Given the description of an element on the screen output the (x, y) to click on. 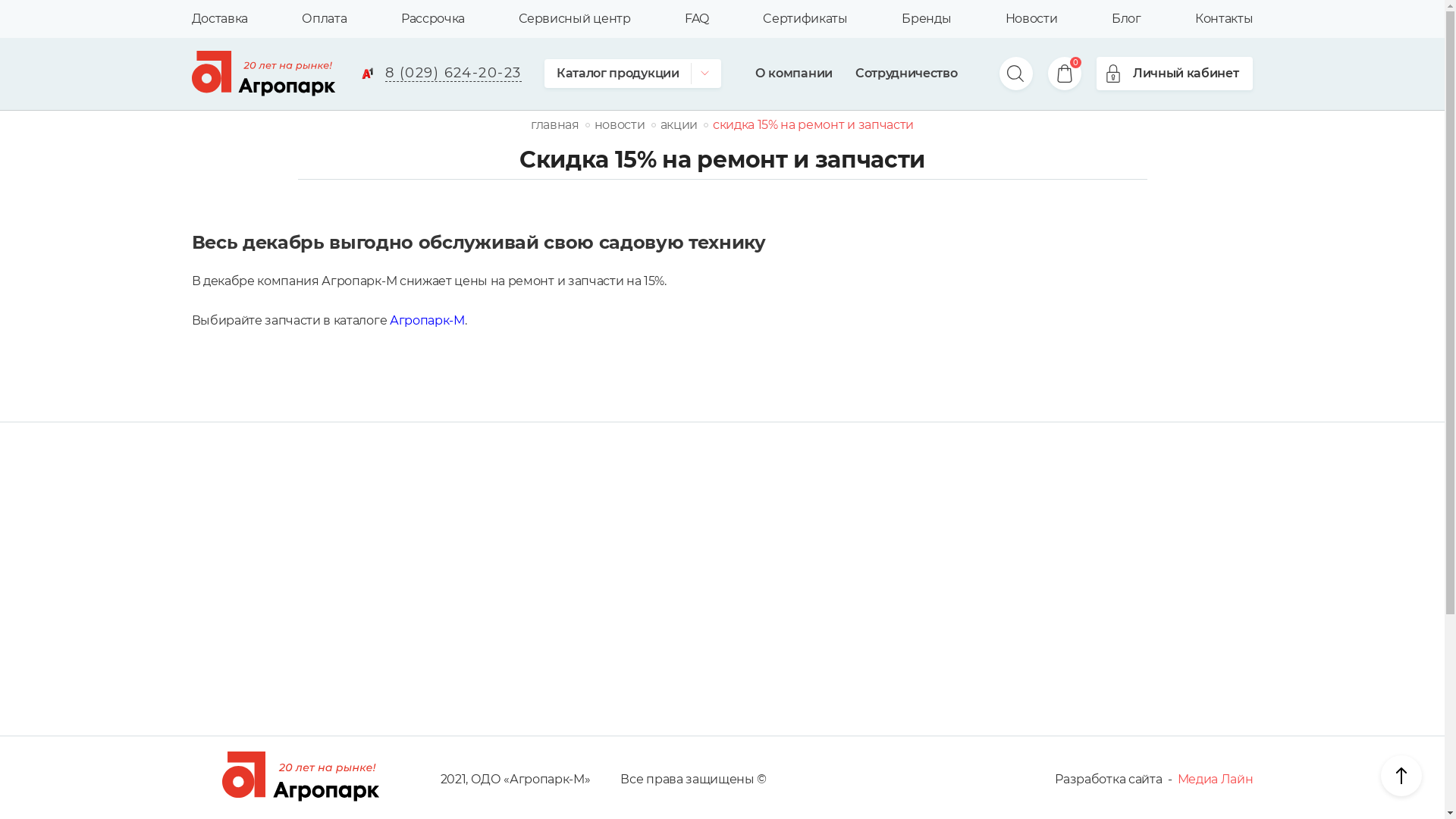
0 Element type: text (1064, 73)
8 (029) 624-20-23 Element type: text (439, 73)
FAQ Element type: text (696, 18)
